Given the description of an element on the screen output the (x, y) to click on. 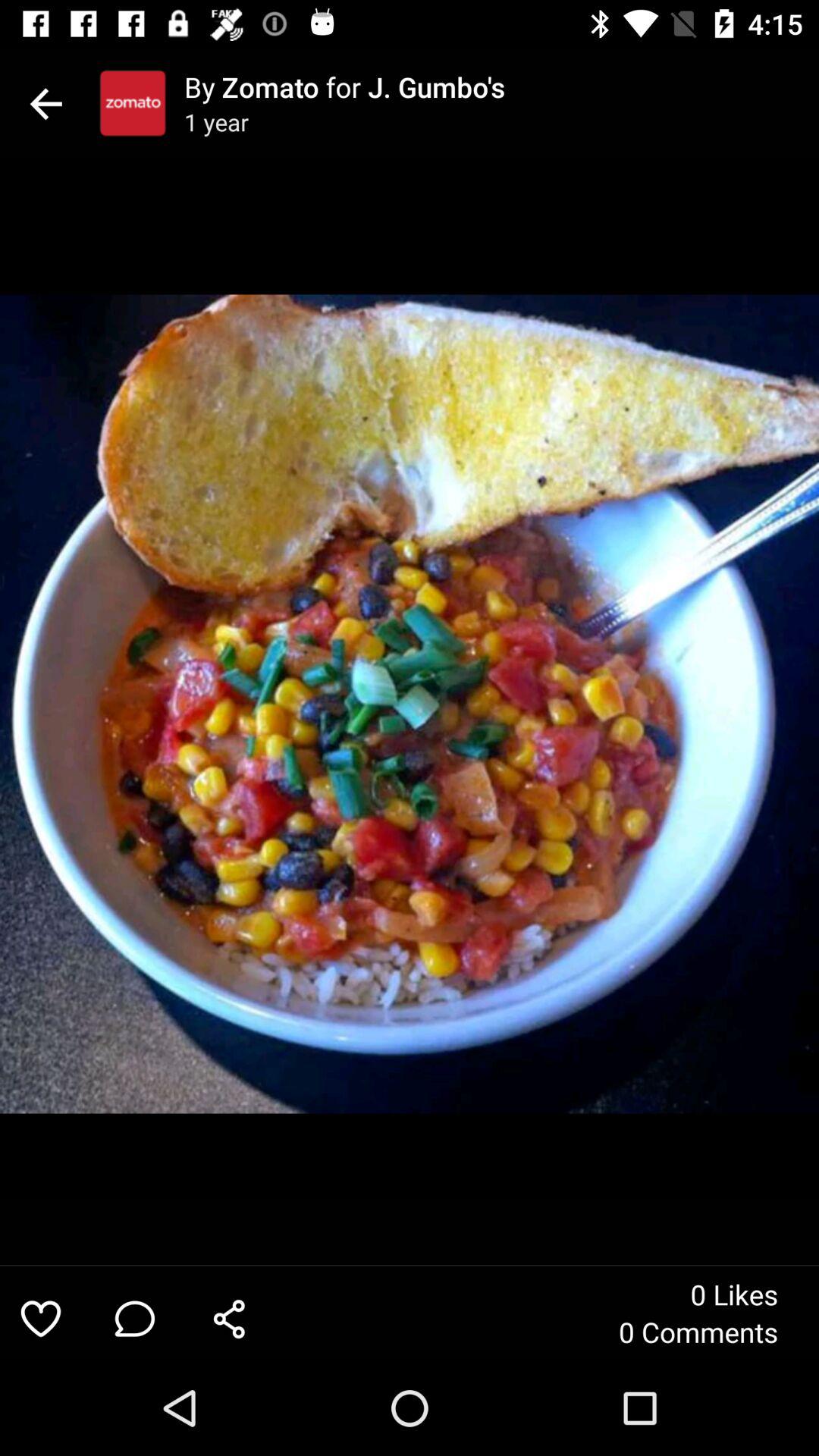
choose icon at the center (409, 703)
